Given the description of an element on the screen output the (x, y) to click on. 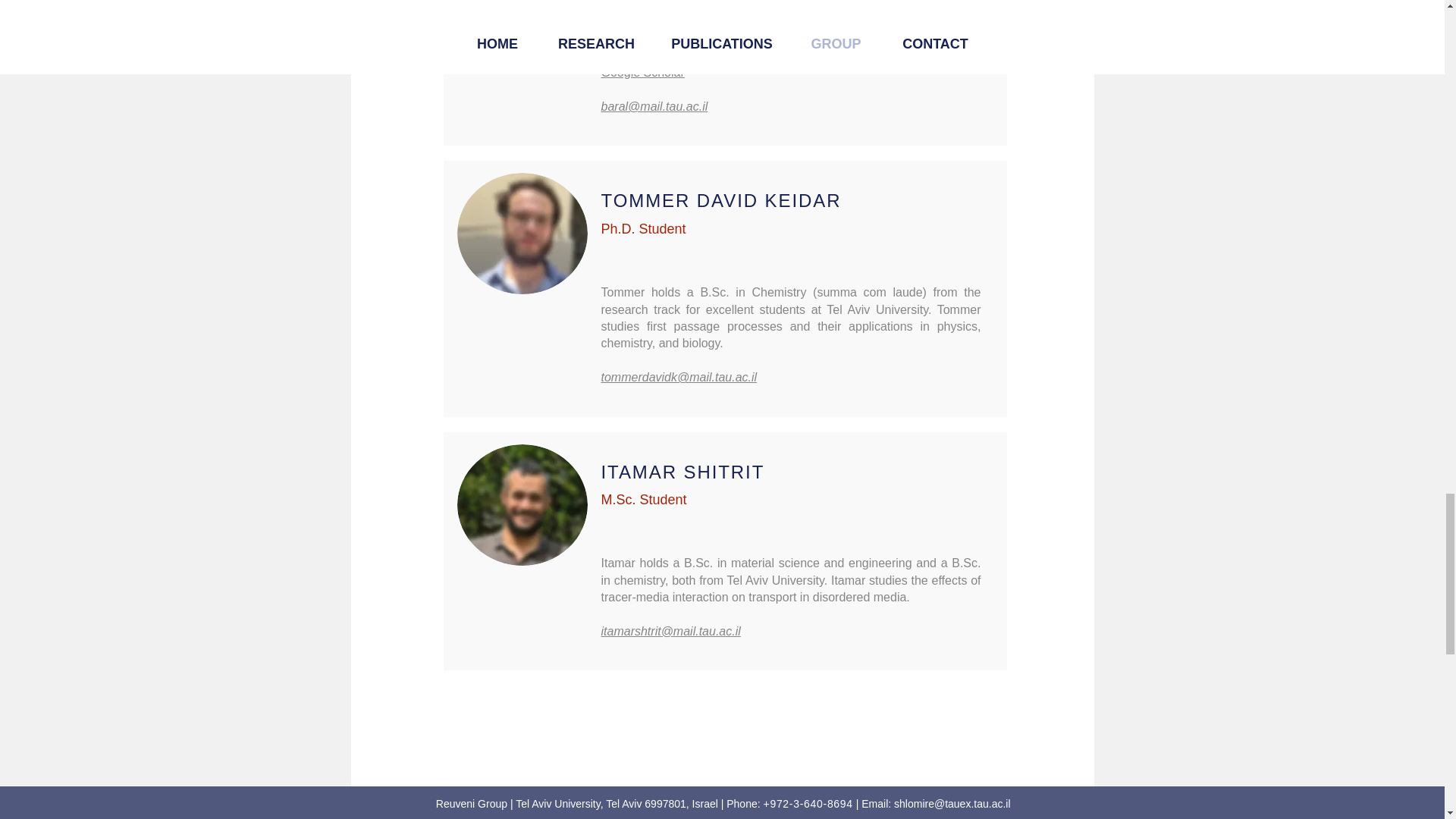
Google Scholar (641, 72)
